Given the description of an element on the screen output the (x, y) to click on. 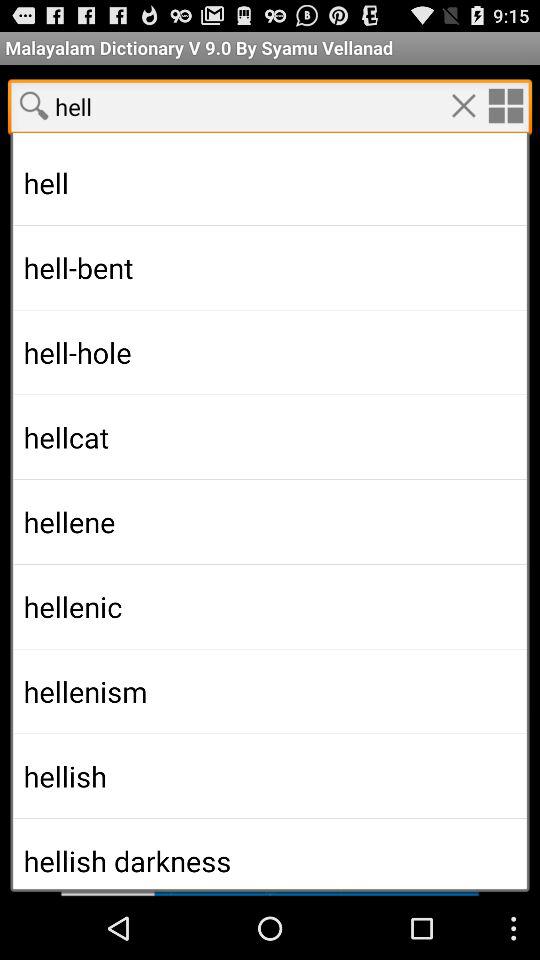
scroll to next section (270, 864)
